Given the description of an element on the screen output the (x, y) to click on. 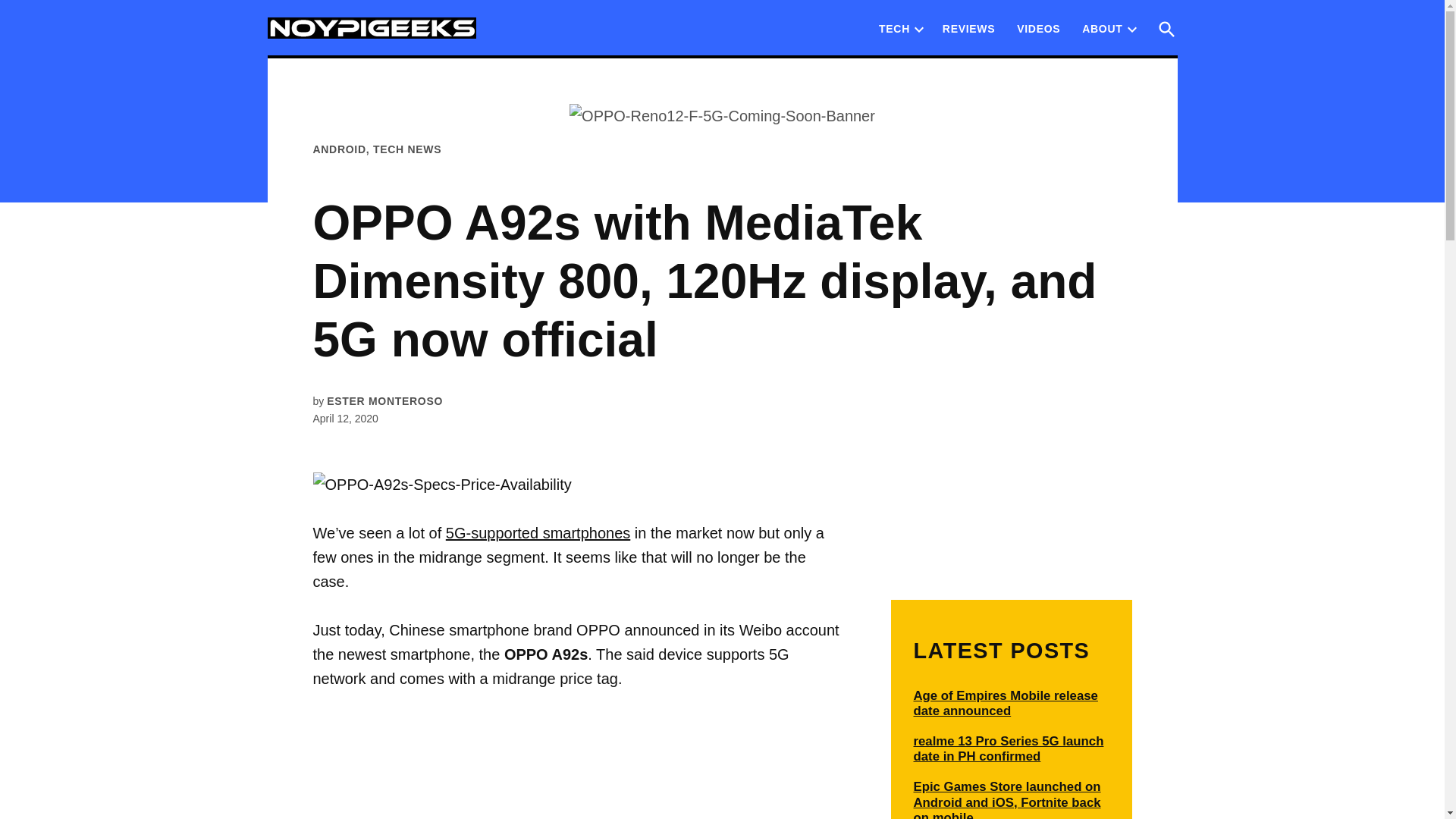
VIDEOS (1038, 28)
NoypiGeeks (536, 39)
REVIEWS (968, 28)
NoypiGeeks YouTube Channel (1038, 28)
ABOUT (1098, 28)
TECH (894, 28)
